Given the description of an element on the screen output the (x, y) to click on. 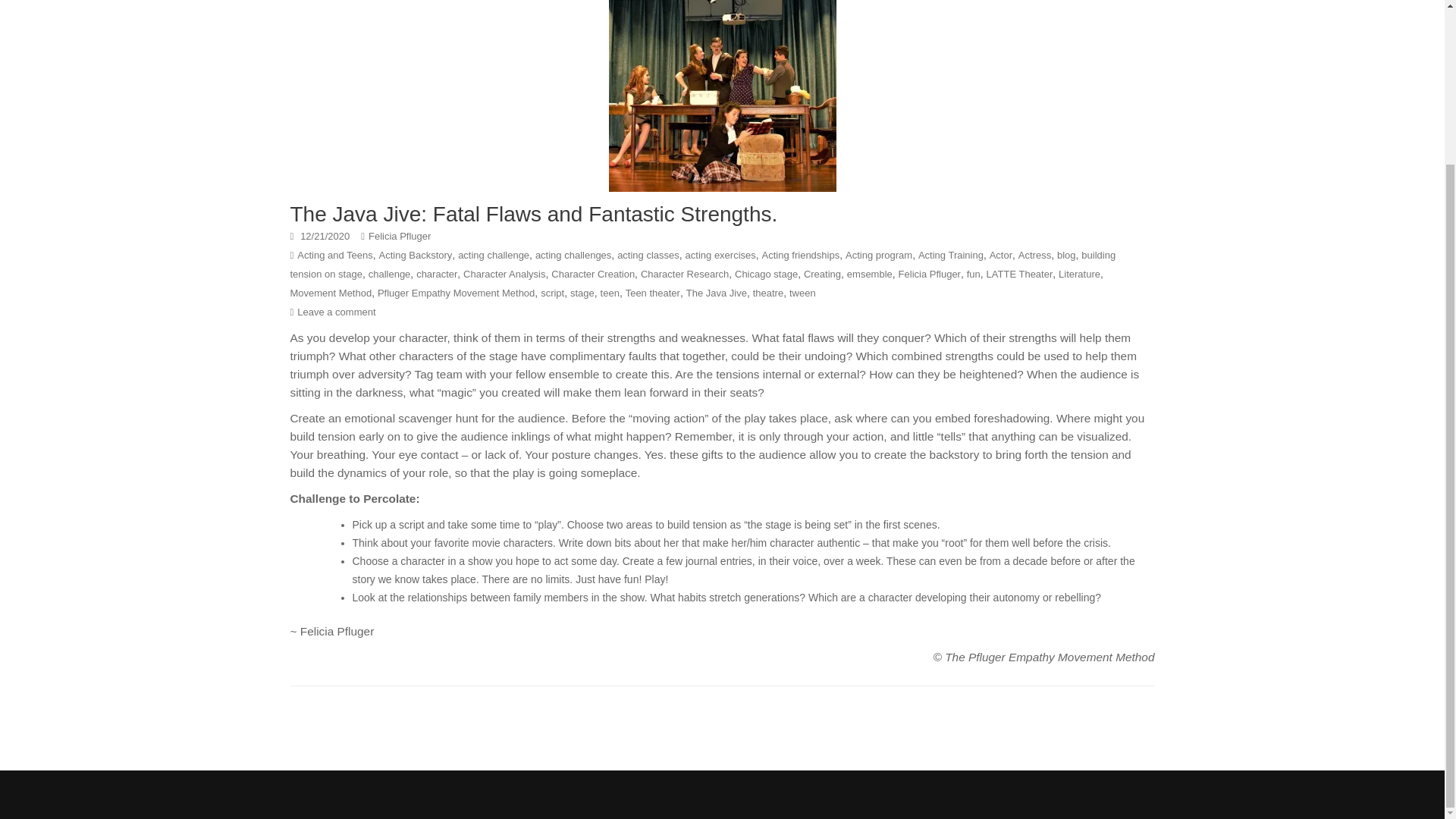
Acting and Teens (334, 255)
acting challenge (493, 255)
acting challenges (573, 255)
Felicia Pfluger (399, 235)
acting classes (648, 255)
The Java Jive: Fatal Flaws and Fantastic Strengths. (533, 214)
Acting Backstory (415, 255)
